Given the description of an element on the screen output the (x, y) to click on. 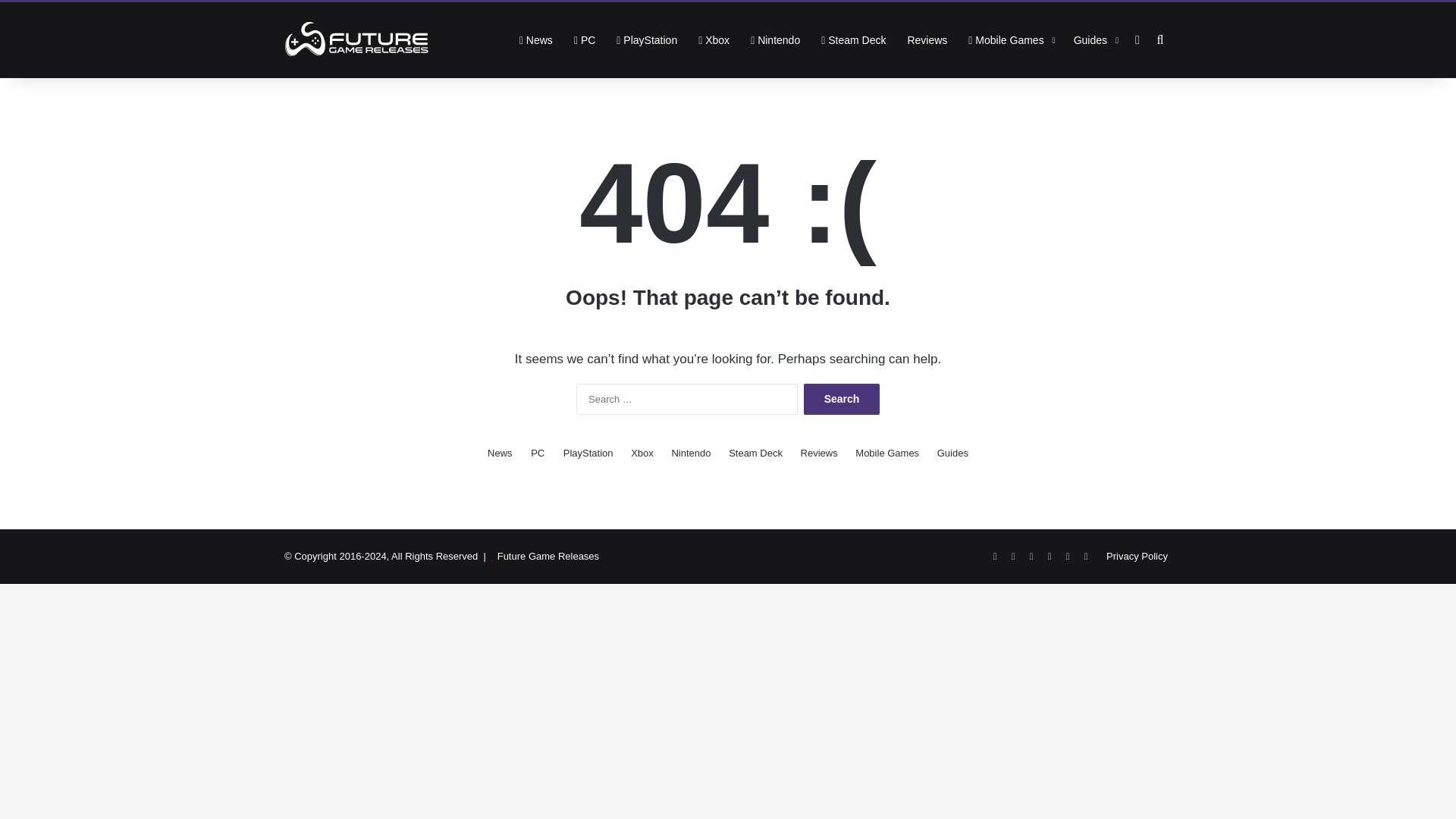
News (535, 39)
Guides (952, 453)
PC (536, 453)
Steam Deck (853, 39)
Search for (1160, 39)
Xbox (641, 453)
Mobile Games (887, 453)
Guides (1093, 39)
Reviews (927, 39)
Switch skin (1136, 39)
Xbox (713, 39)
Xbox (713, 39)
News (499, 453)
Nintendo (774, 39)
PlayStation (646, 39)
